Given the description of an element on the screen output the (x, y) to click on. 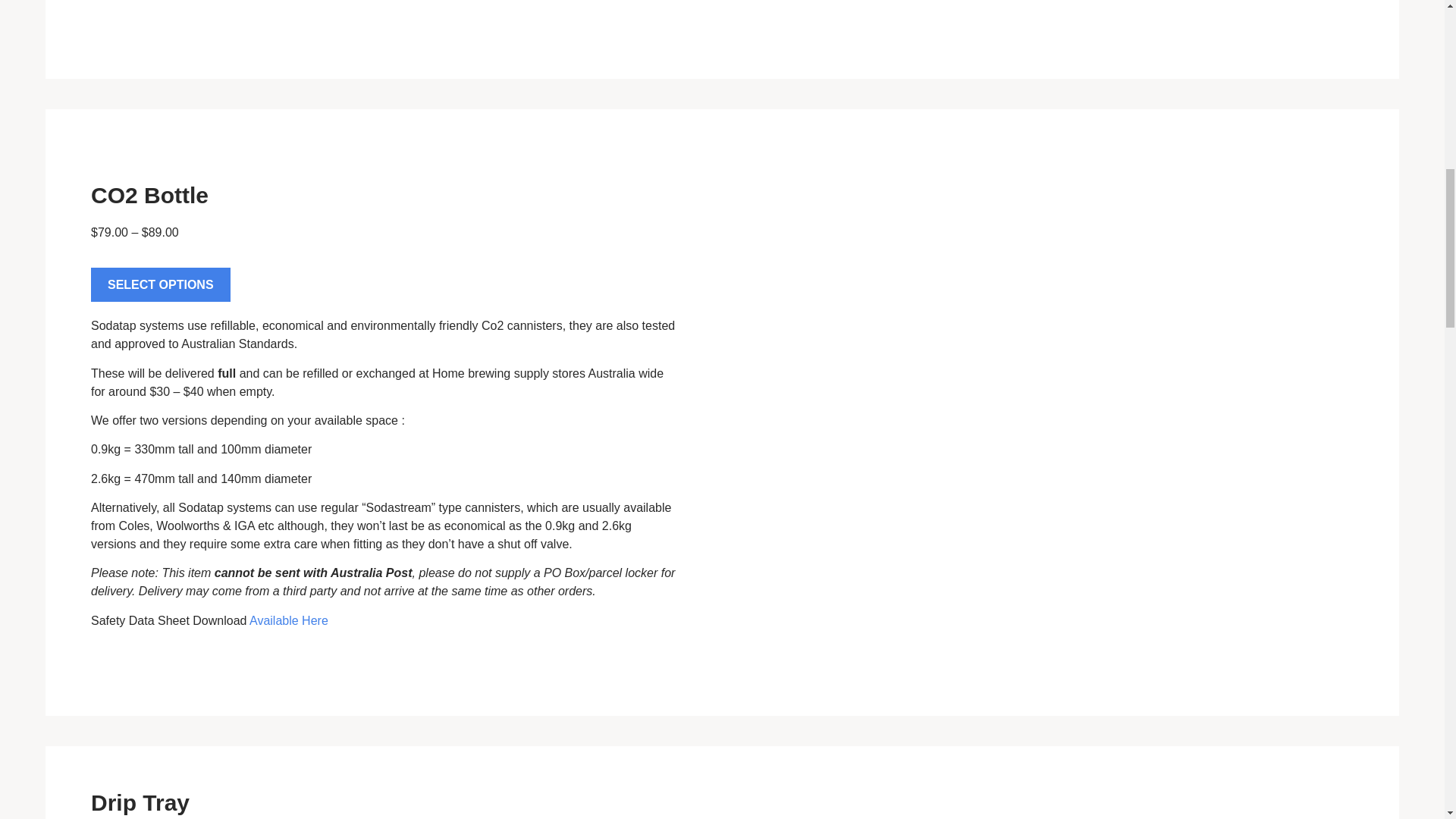
Drip Tray (139, 802)
SELECT OPTIONS (160, 284)
CO2 Bottle (149, 195)
Available Here (288, 620)
